Given the description of an element on the screen output the (x, y) to click on. 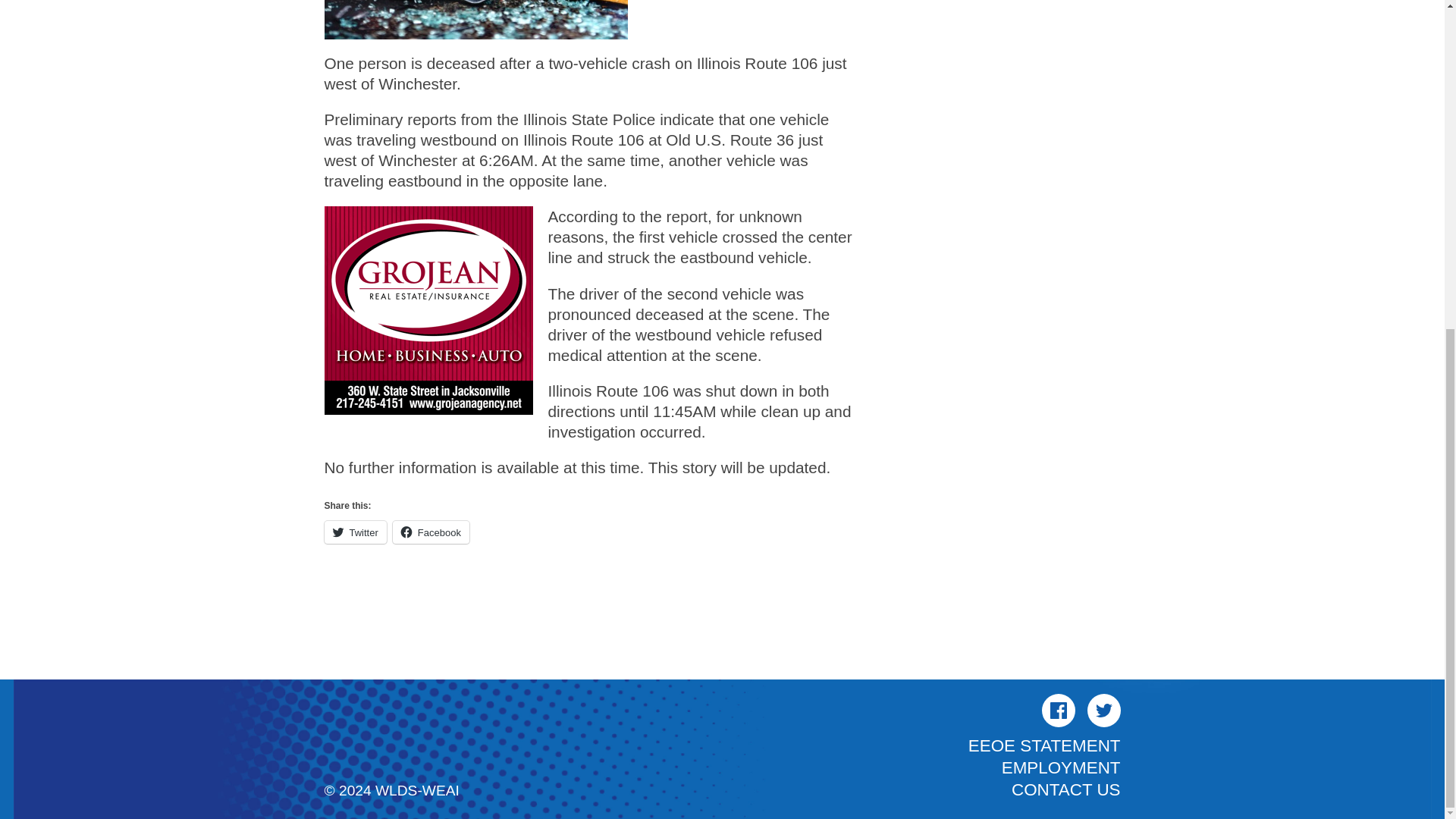
Click to share on Facebook (430, 531)
Twitter (355, 531)
Click to share on Twitter (355, 531)
Facebook (1058, 710)
Facebook (430, 531)
